Given the description of an element on the screen output the (x, y) to click on. 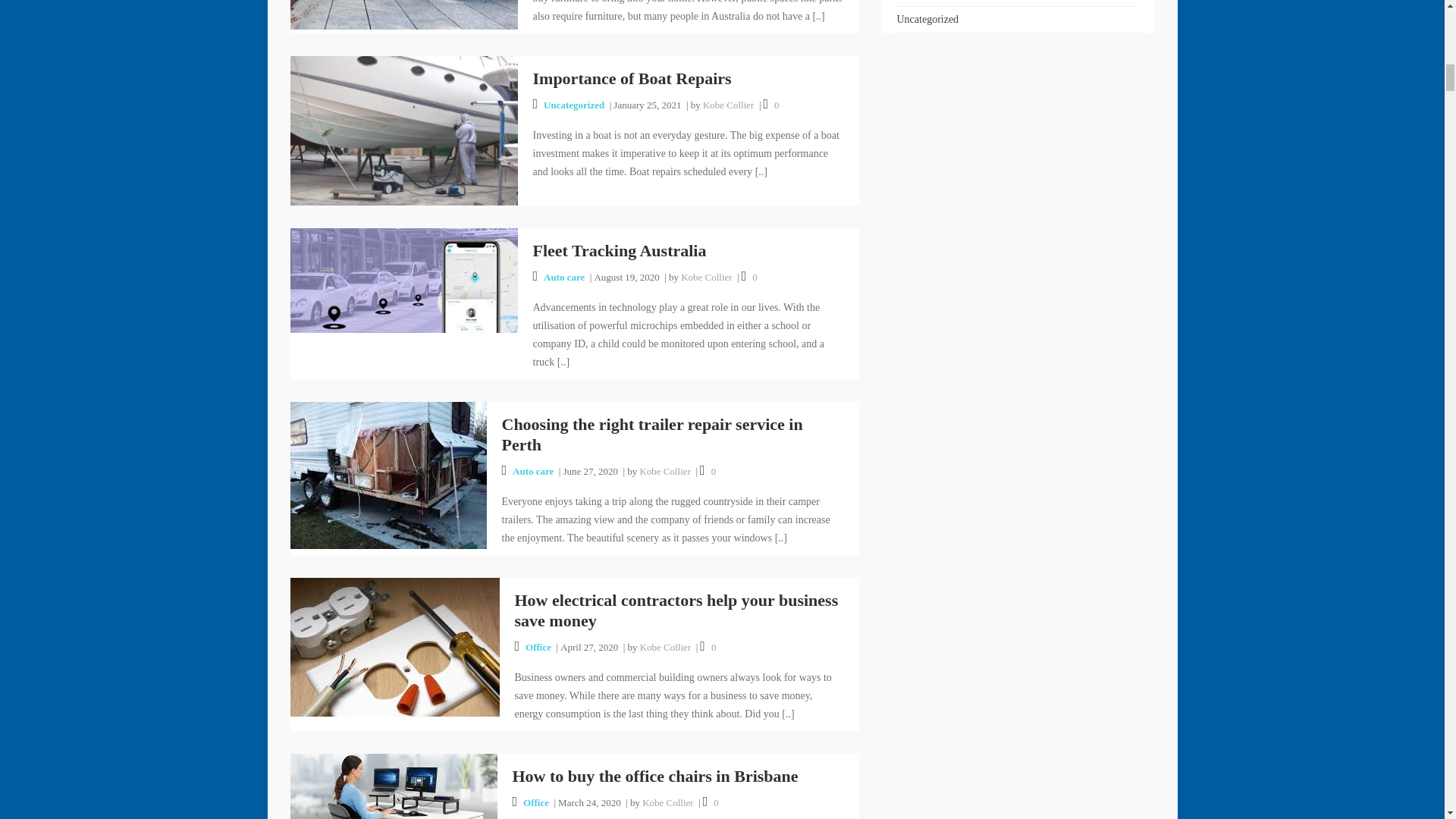
Fleet Tracking Australia (402, 279)
Choosing the right trailer repair service in Perth (387, 473)
Importance of Boat Repairs (402, 129)
How electrical contractors help your business save money (394, 645)
